Given the description of an element on the screen output the (x, y) to click on. 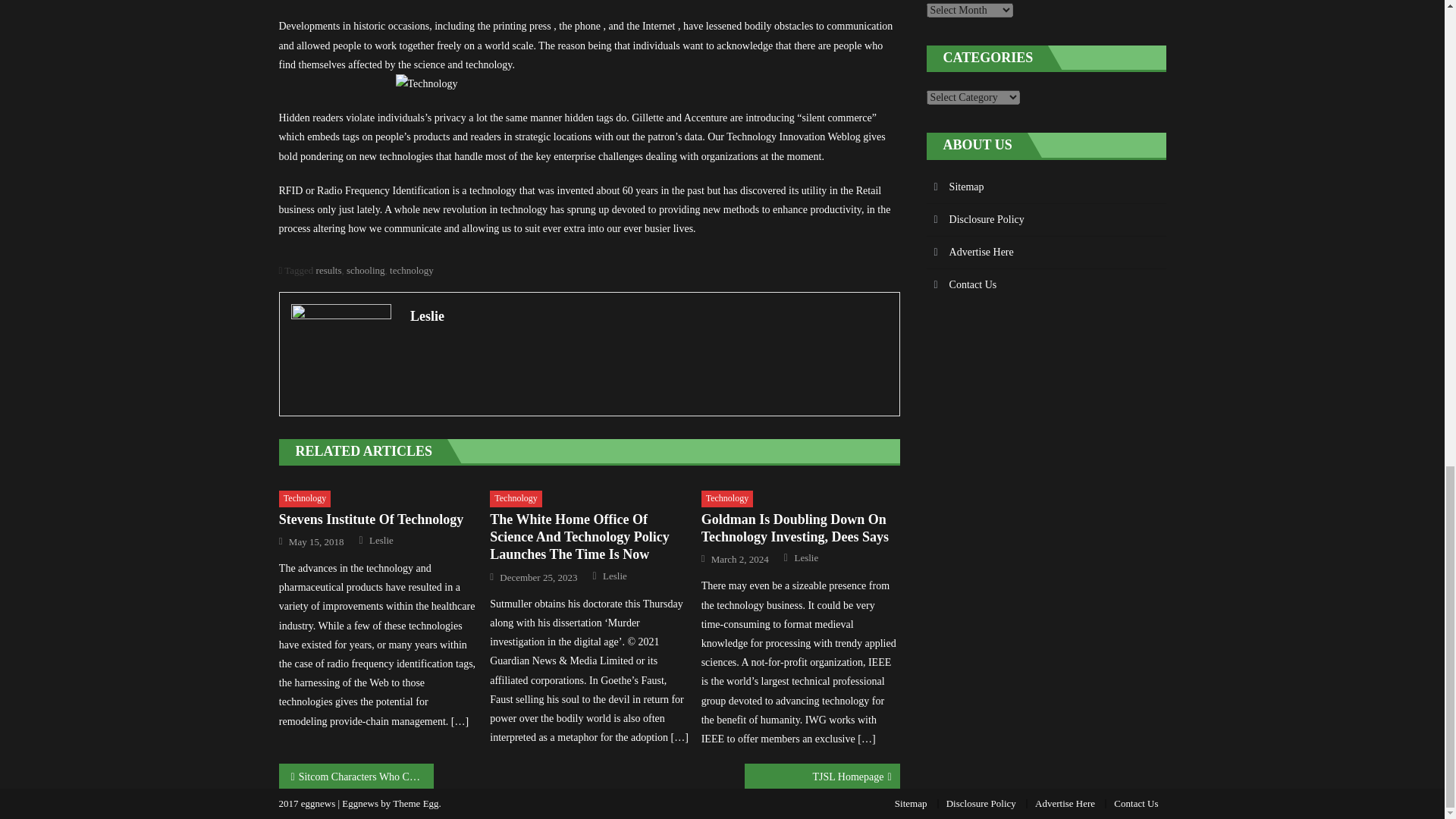
results (328, 270)
technology (411, 270)
schooling (365, 270)
